Given the description of an element on the screen output the (x, y) to click on. 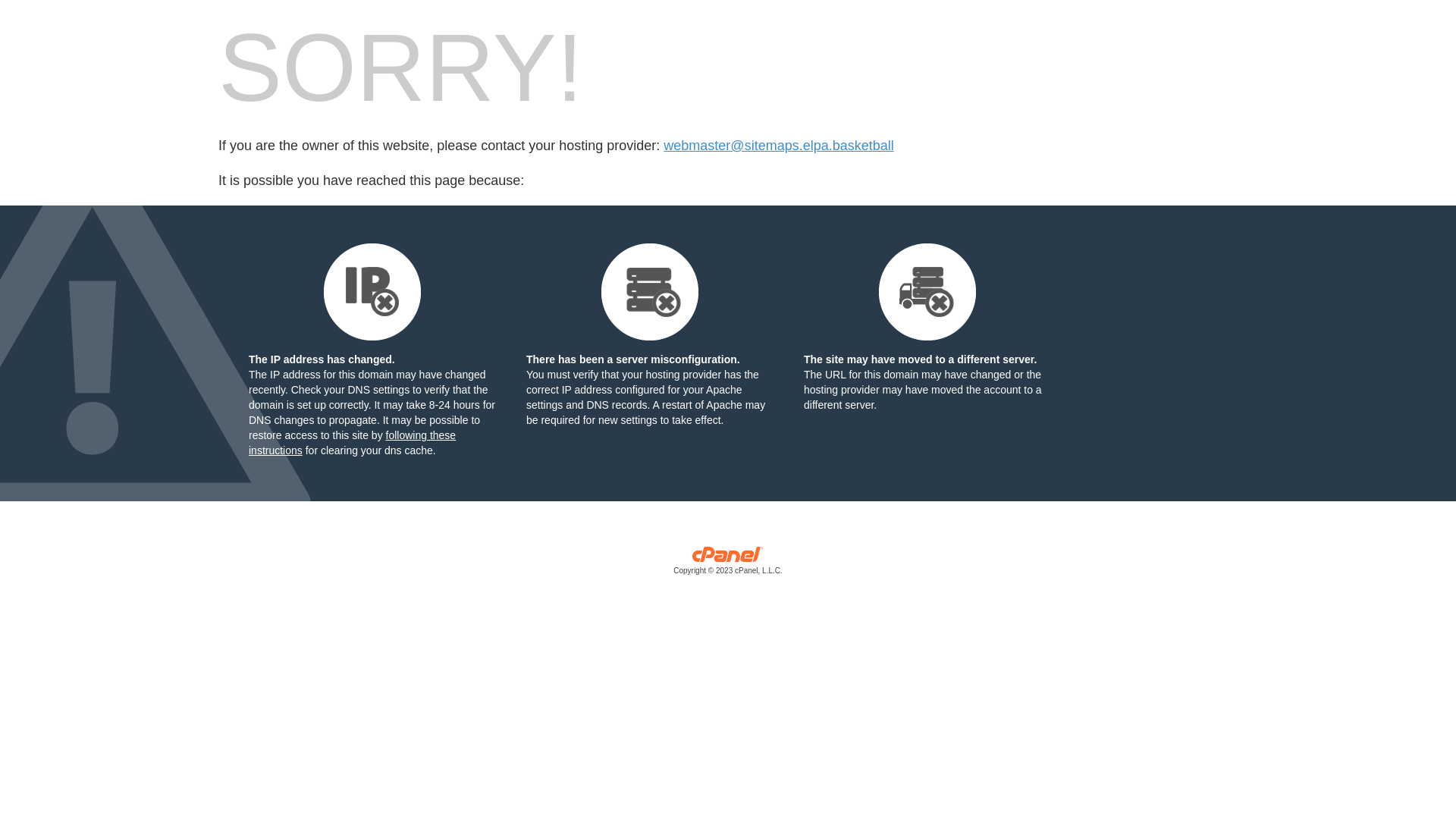
following these instructions Element type: text (351, 442)
webmaster@sitemaps.elpa.basketball Element type: text (778, 145)
